Given the description of an element on the screen output the (x, y) to click on. 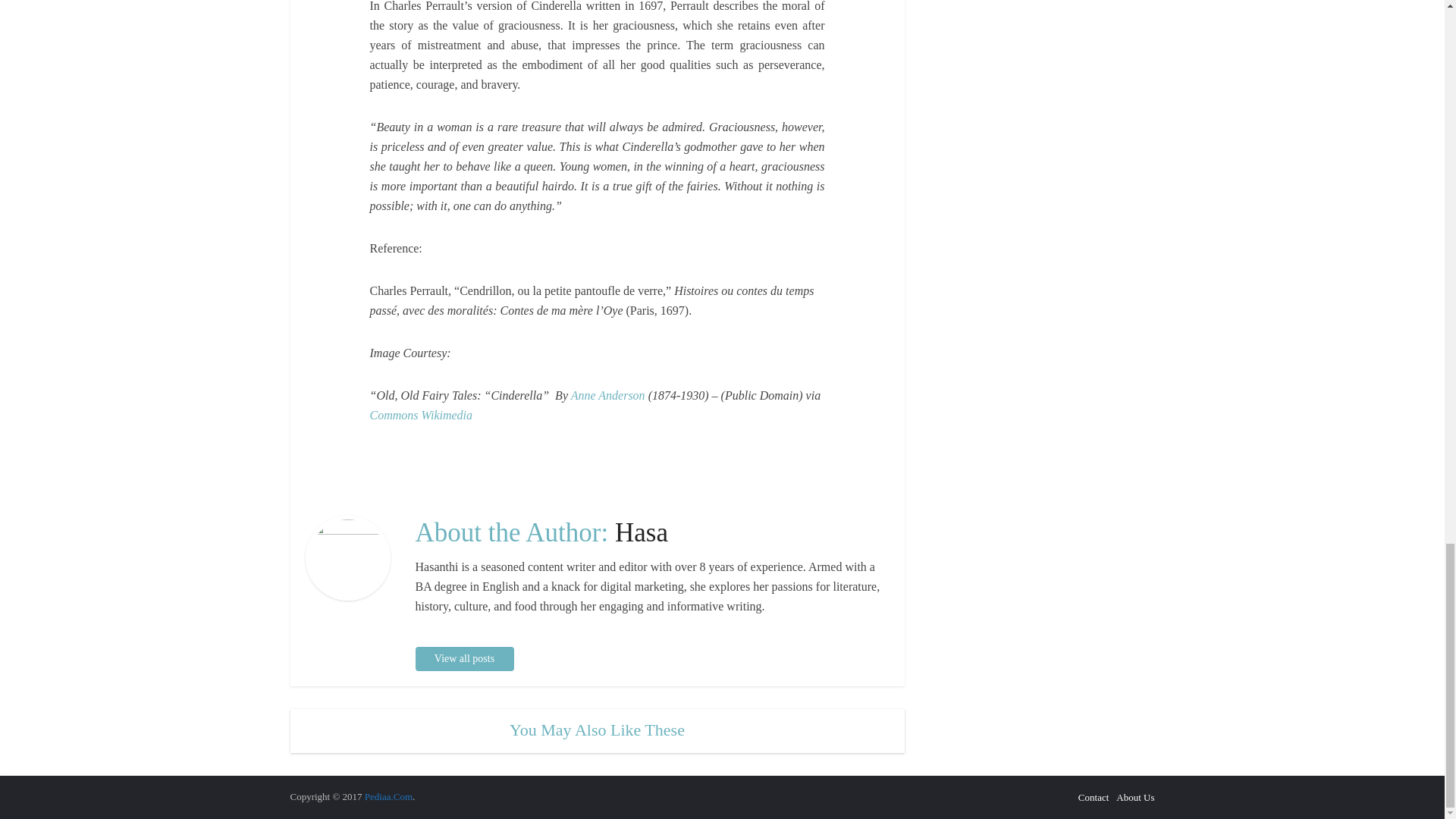
Anne Anderson (607, 395)
Commons Wikimedia  (422, 414)
View all posts (463, 658)
Know about Anything (388, 796)
